Given the description of an element on the screen output the (x, y) to click on. 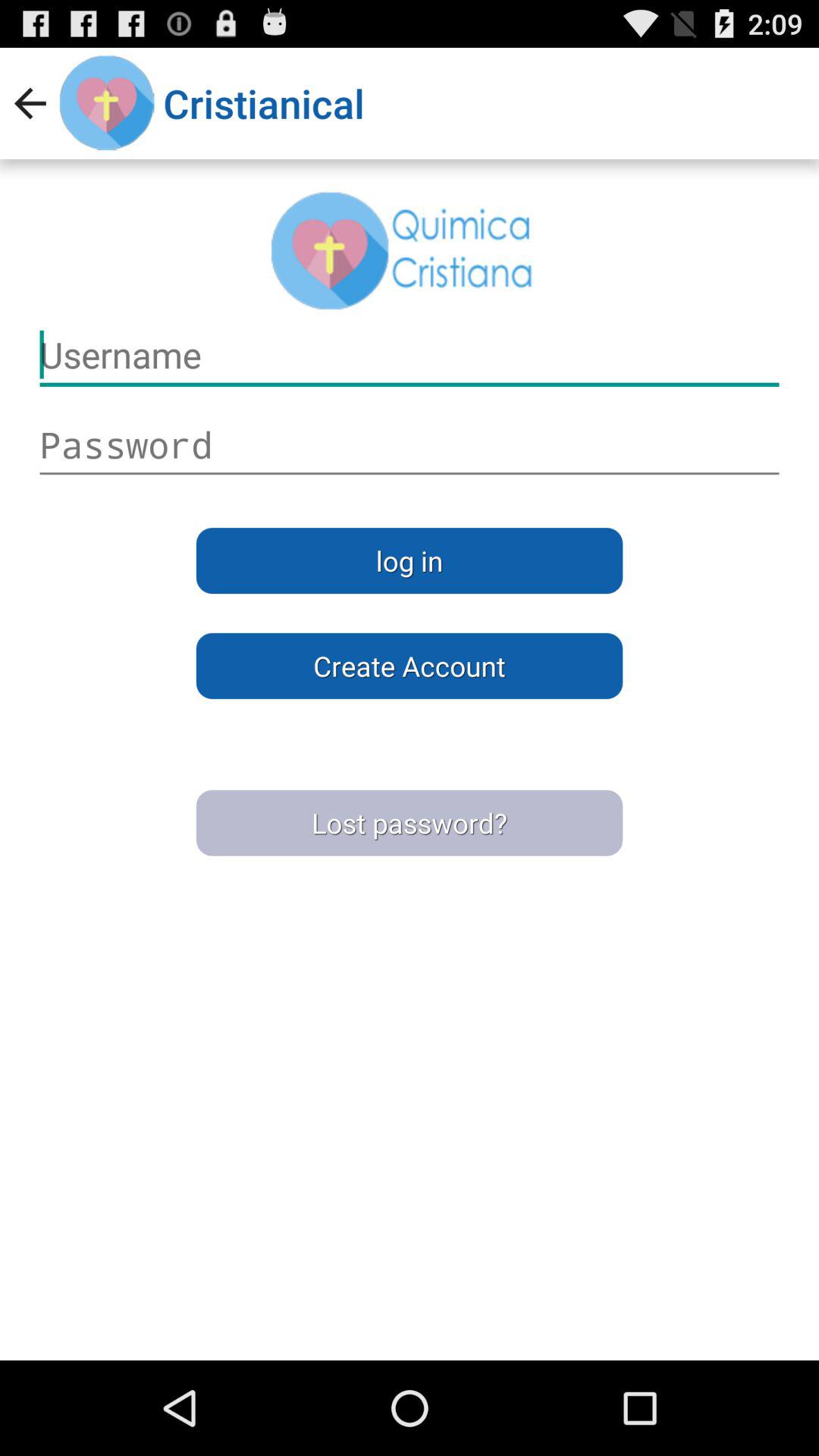
swipe to create account item (409, 665)
